Given the description of an element on the screen output the (x, y) to click on. 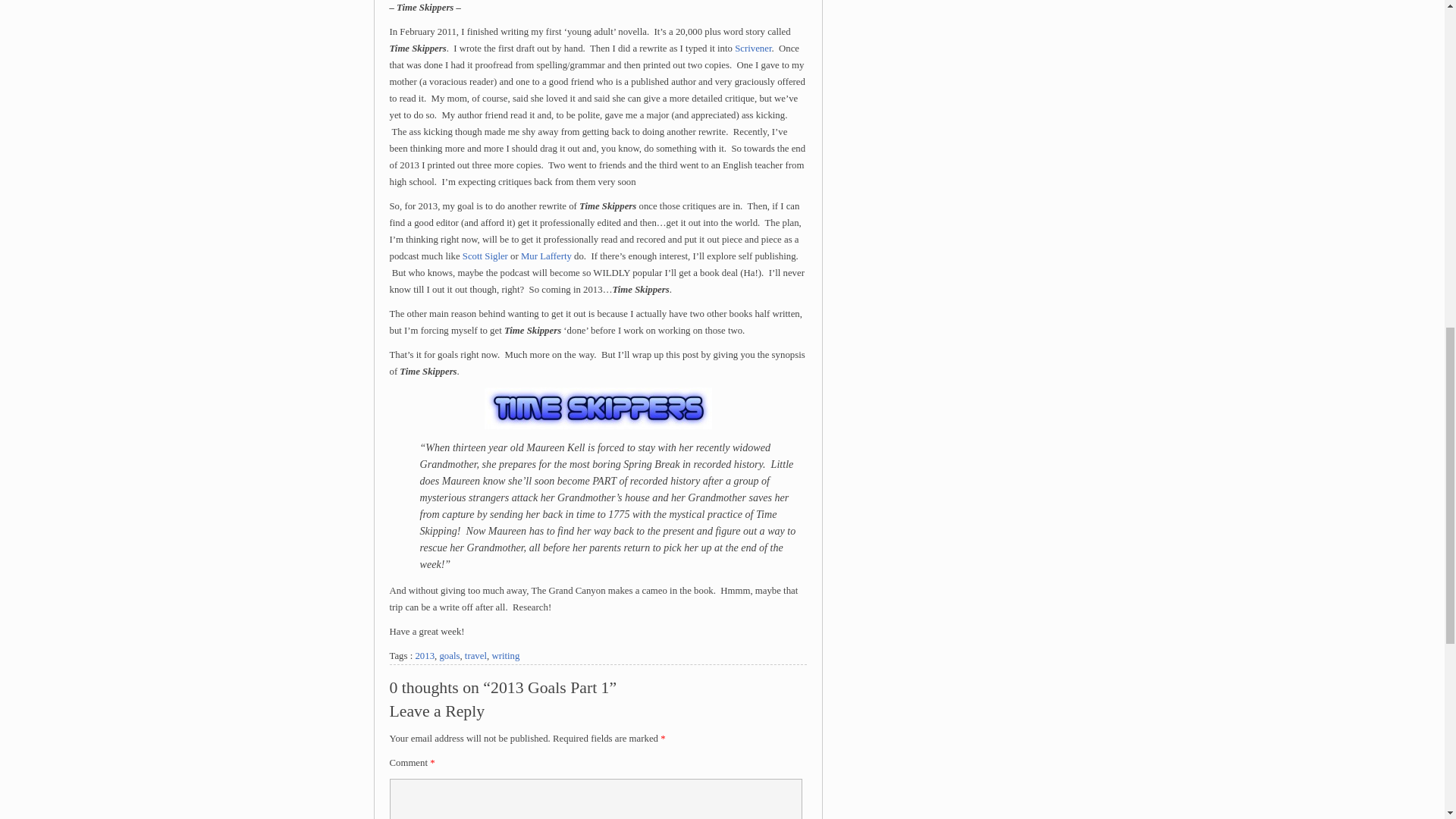
writing (505, 655)
travel (475, 655)
goals (449, 655)
2013 (423, 655)
Mur Lafferty (546, 255)
Scott Sigler (485, 255)
Scrivener (753, 48)
